Given the description of an element on the screen output the (x, y) to click on. 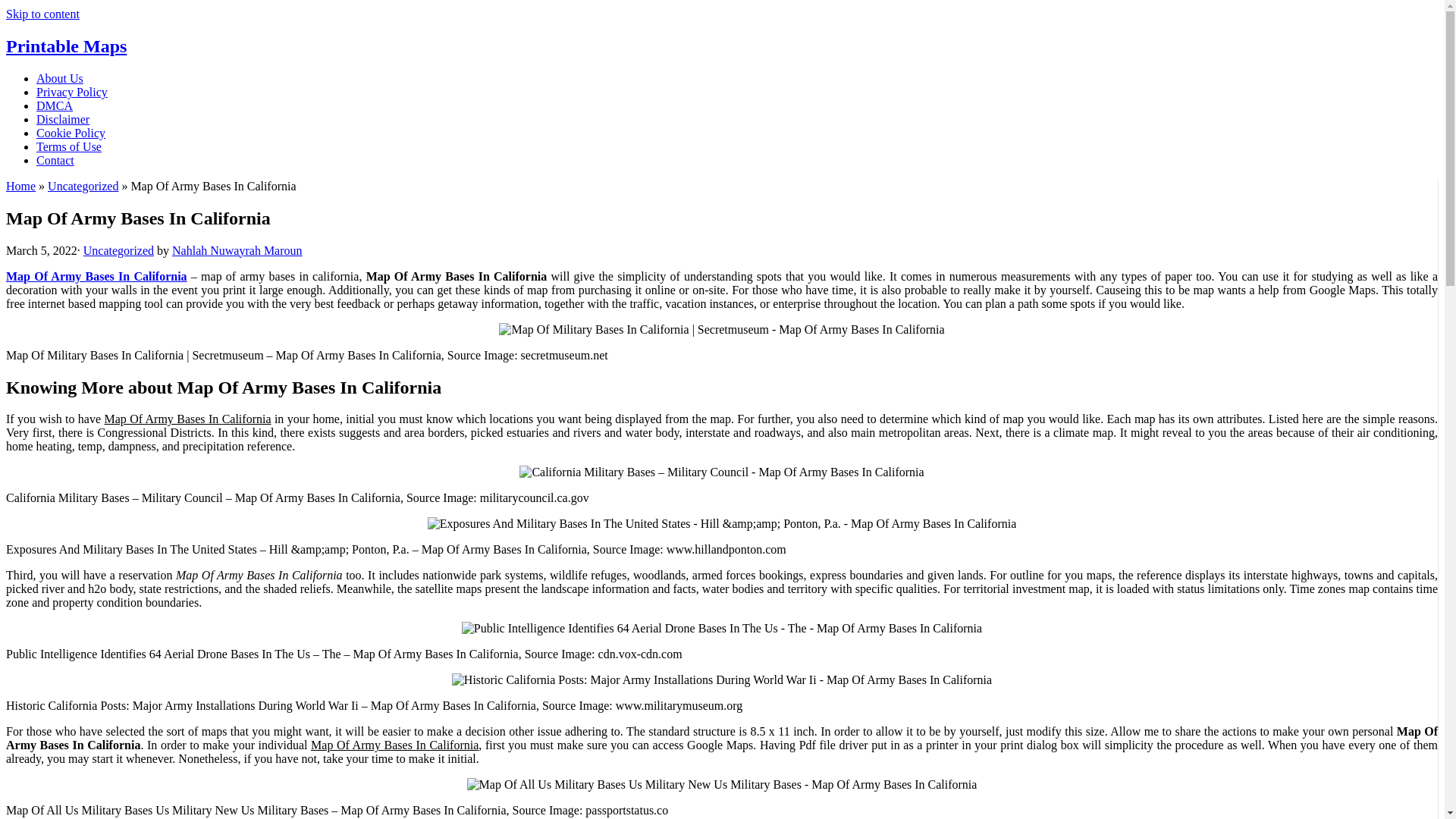
Terms of Use (68, 146)
Cookie Policy (70, 132)
Printable Maps (65, 46)
Uncategorized (118, 250)
Nahlah Nuwayrah Maroun (236, 250)
Skip to content (42, 13)
Disclaimer (62, 119)
Contact (55, 160)
Home (19, 185)
DMCA (54, 105)
About Us (59, 78)
